Given the description of an element on the screen output the (x, y) to click on. 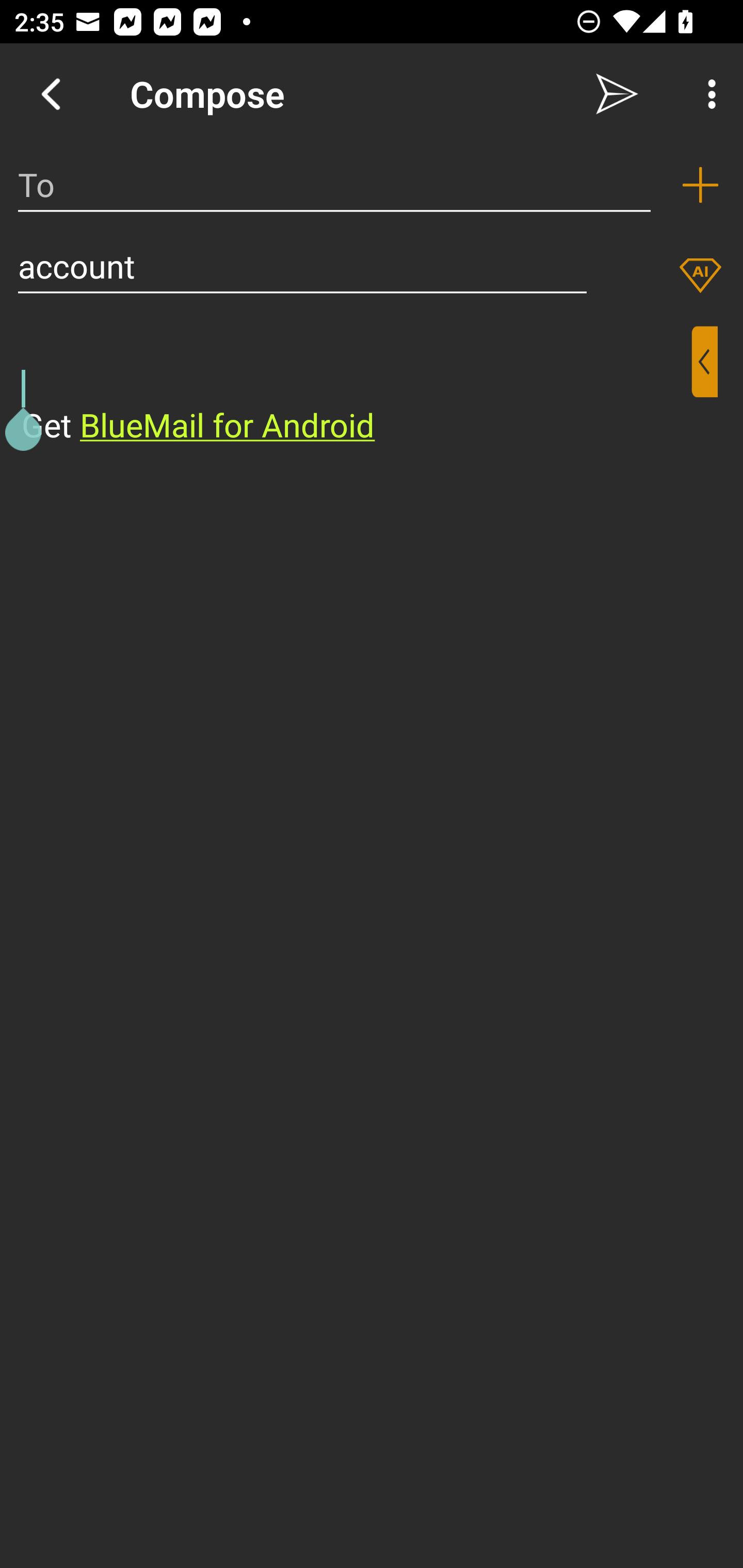
Navigate up (50, 93)
Send (616, 93)
More Options (706, 93)
To (334, 184)
Add recipient (To) (699, 184)
account (302, 266)


⁣Get BlueMail for Android ​ (355, 386)
